Given the description of an element on the screen output the (x, y) to click on. 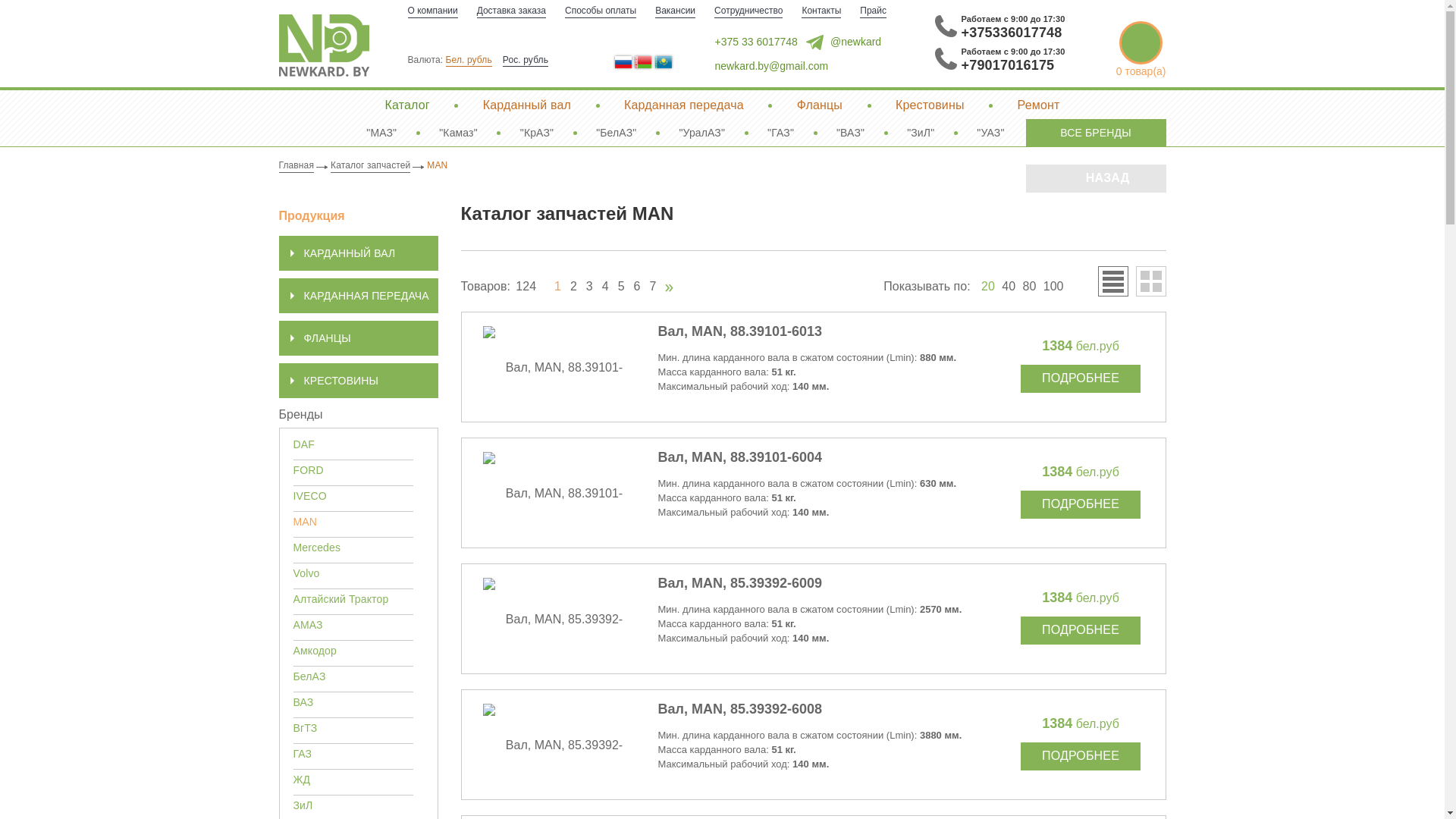
+375 33 6017748 Element type: text (743, 41)
3 Element type: text (589, 286)
2 Element type: text (573, 286)
7 Element type: text (652, 286)
newkard.by@gmail.com Element type: text (759, 65)
@newkard Element type: text (843, 41)
6 Element type: text (637, 286)
NewKard.by Element type: text (324, 45)
+375336017748 Element type: text (1011, 32)
1 Element type: text (557, 286)
+79017016175 Element type: text (1007, 65)
5 Element type: text (621, 286)
4 Element type: text (605, 286)
